Given the description of an element on the screen output the (x, y) to click on. 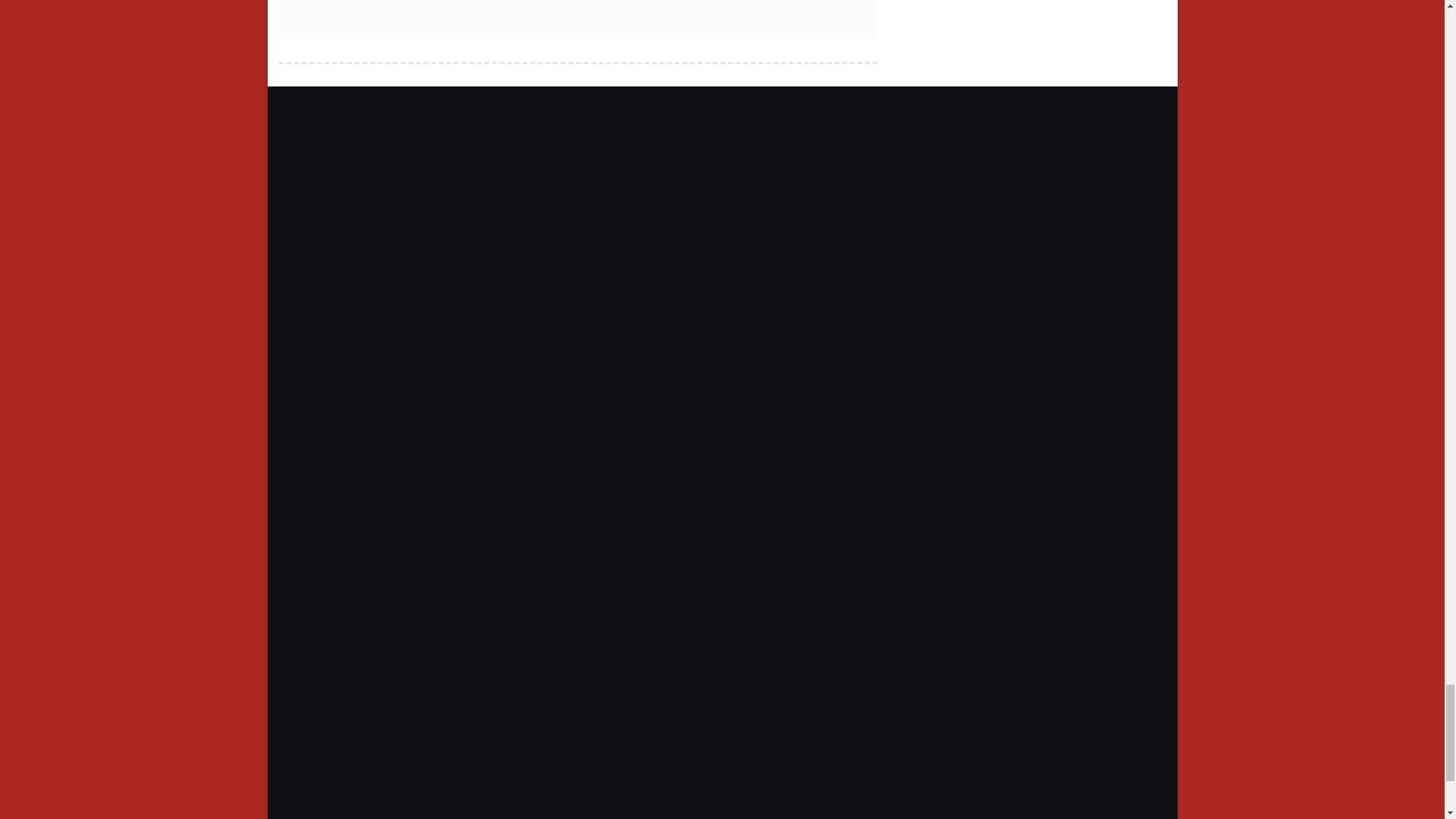
Comment Form (577, 9)
